Given the description of an element on the screen output the (x, y) to click on. 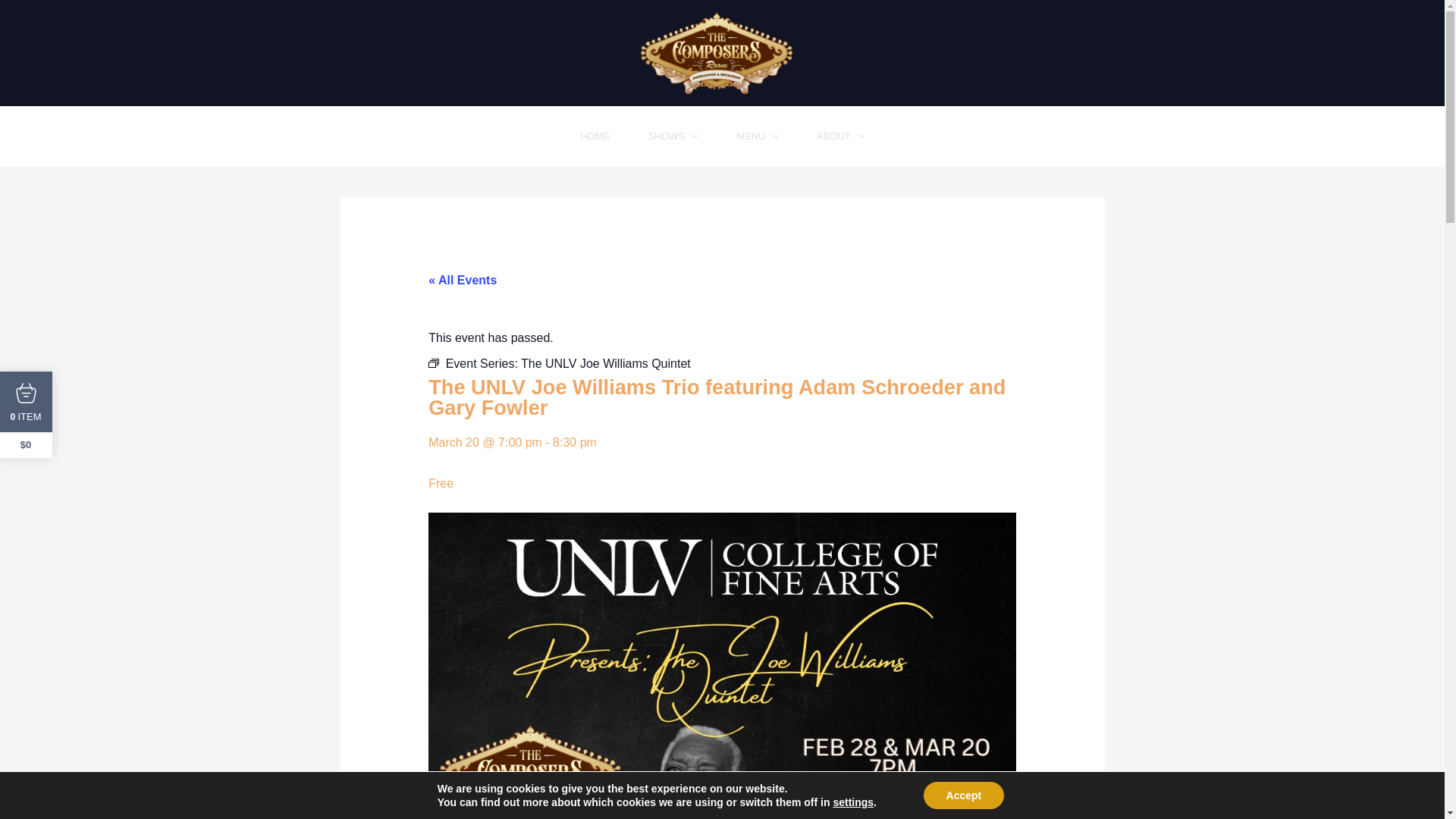
Event Series (433, 362)
HOME (594, 136)
MENU (757, 136)
SHOWS (672, 136)
The UNLV Joe Williams Quintet (605, 363)
ABOUT (840, 136)
